Given the description of an element on the screen output the (x, y) to click on. 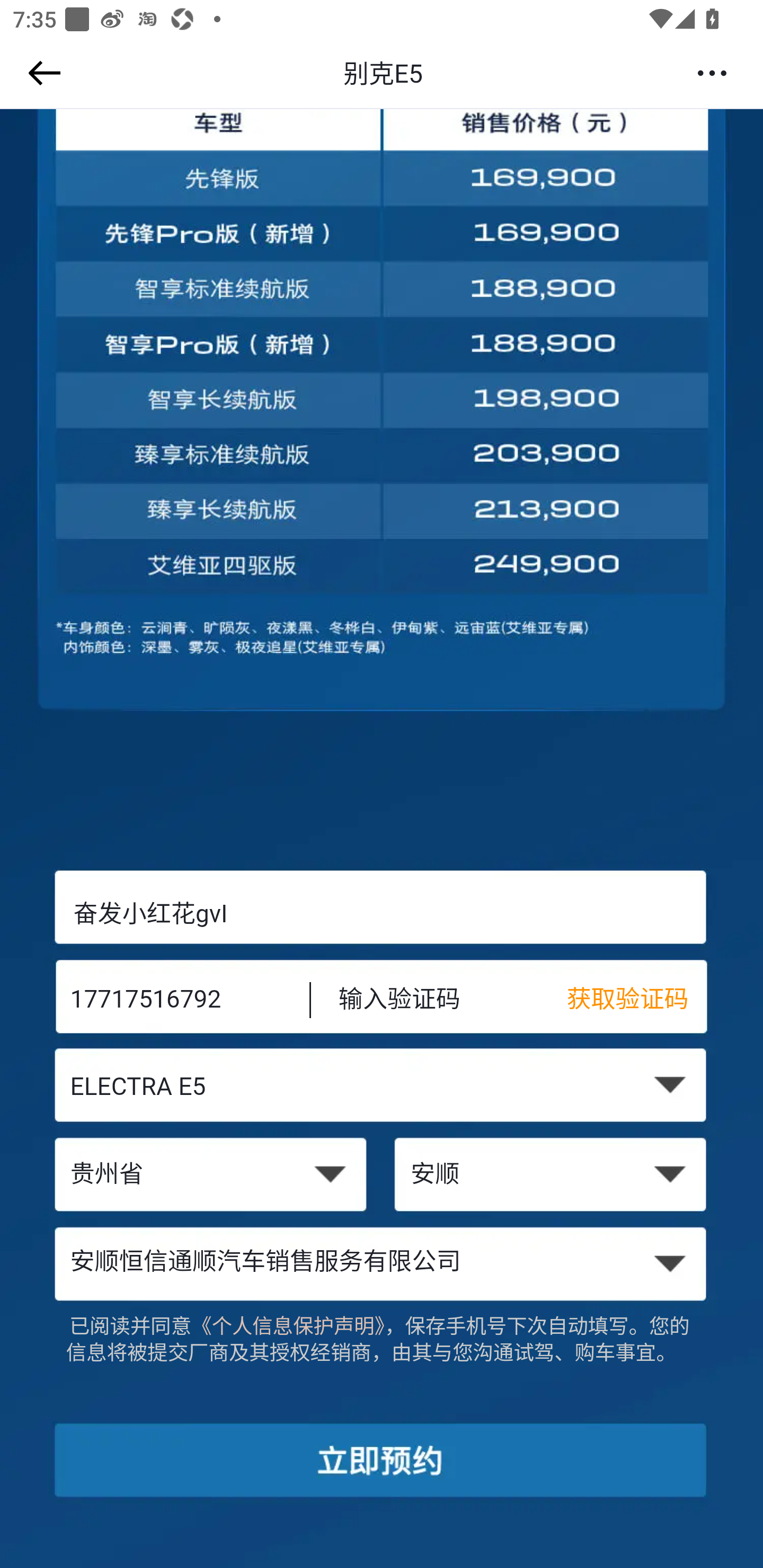
 (41, 72)
奋发小红花gvI (381, 912)
17717516792 (176, 1001)
获取验证码 (637, 1001)
ELECTRA E5 (381, 1088)
贵州省 (210, 1175)
安顺 (552, 1175)
安顺恒信通顺汽车销售服务有限公司 (381, 1262)
